Given the description of an element on the screen output the (x, y) to click on. 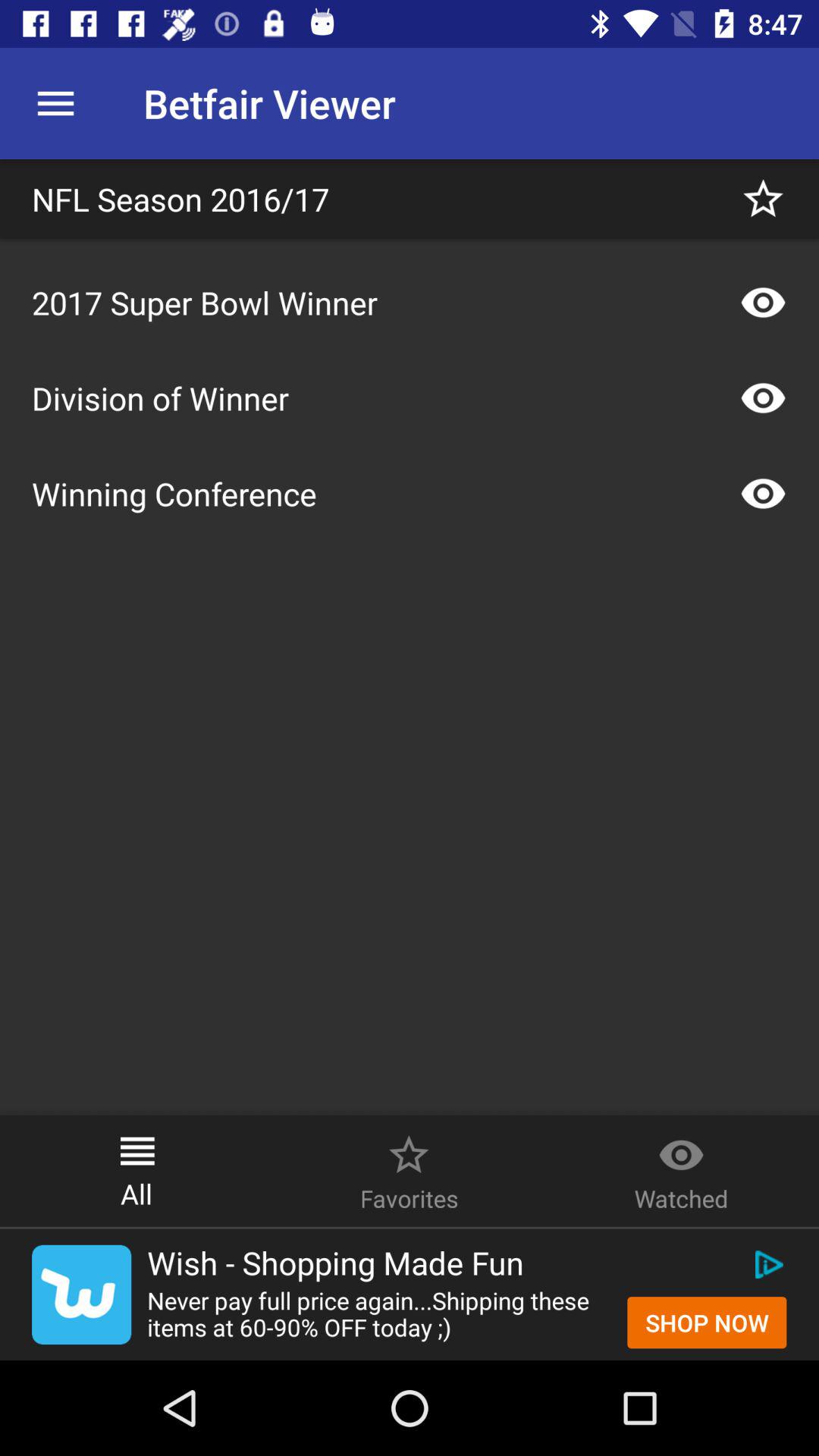
look more closely at the winning conference tab (763, 493)
